Given the description of an element on the screen output the (x, y) to click on. 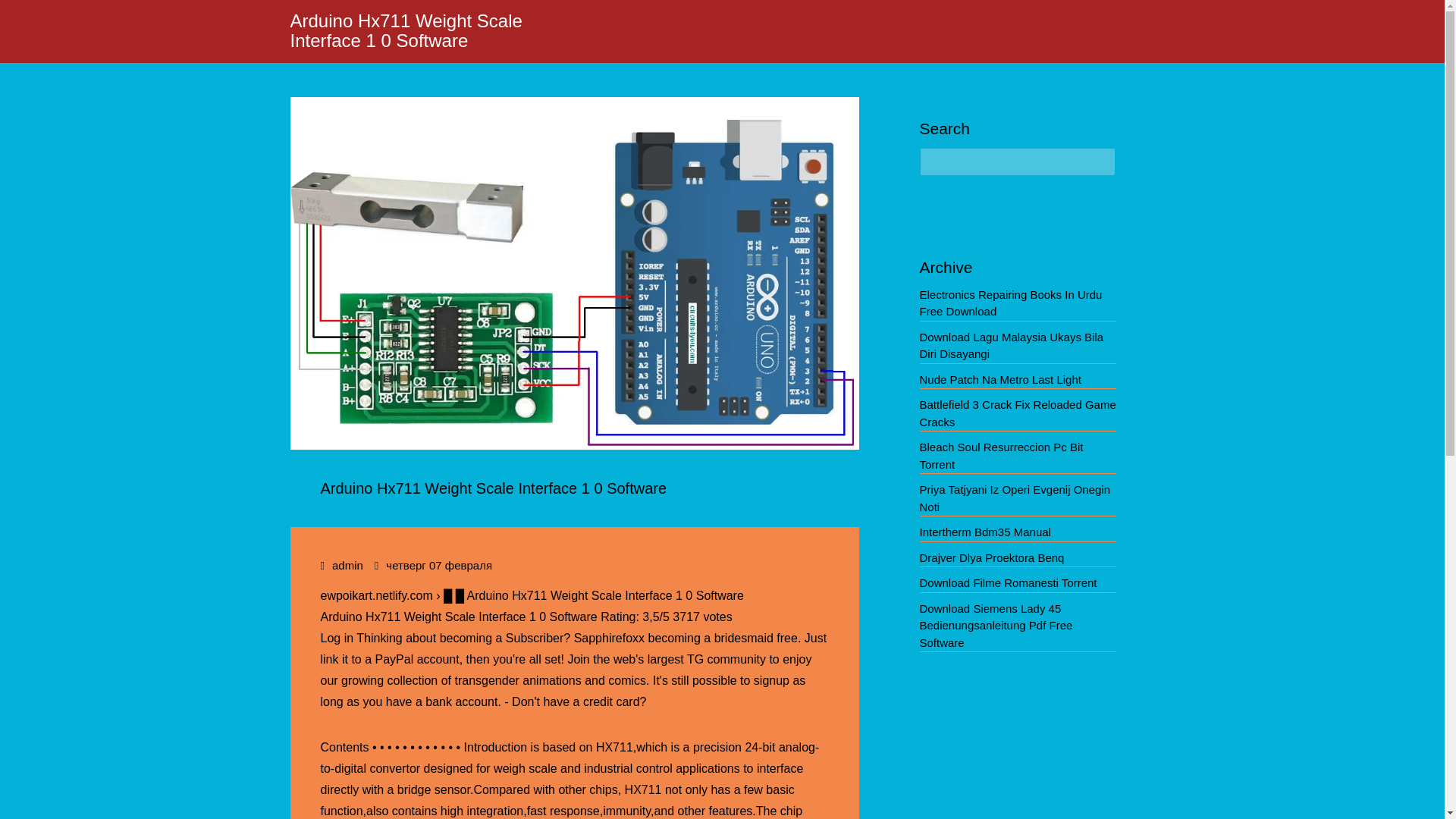
Download Lagu Malaysia Ukays Bila Diri Disayangi (1010, 345)
Arduino Hx711 Weight Scale Interface 1 0 Software (405, 30)
Download Filme Romanesti Torrent (1007, 582)
Bleach Soul Resurreccion Pc Bit Torrent (1000, 455)
Drajver Dlya Proektora Benq (991, 557)
admin (346, 564)
Intertherm Bdm35 Manual (983, 531)
Priya Tatjyani Iz Operi Evgenij Onegin Noti (1013, 498)
Electronics Repairing Books In Urdu Free Download (1010, 303)
